Given the description of an element on the screen output the (x, y) to click on. 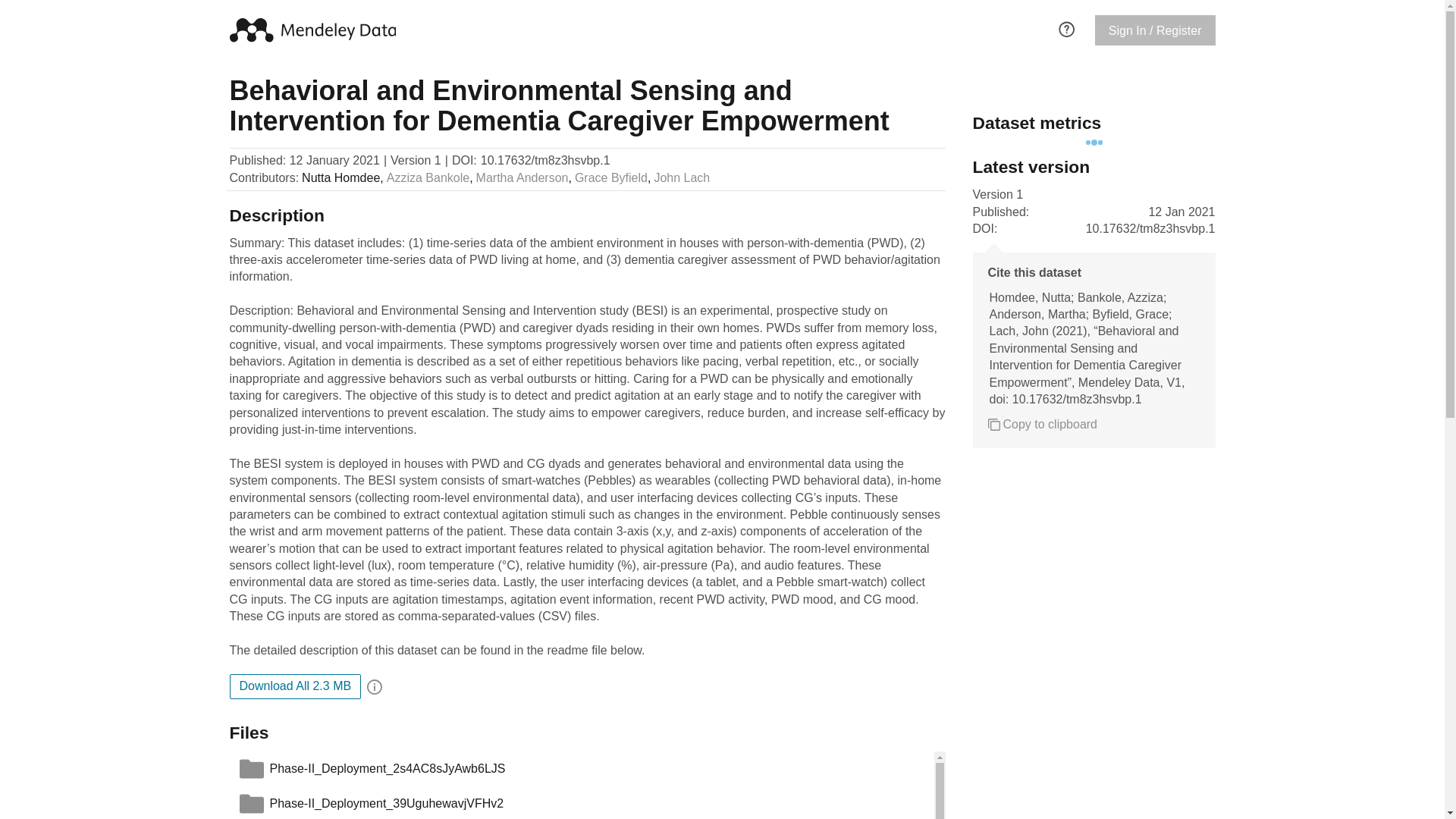
FAQ (1066, 27)
Martha Anderson (522, 177)
Copy to clipboard (1042, 424)
Azziza Bankole (427, 177)
Grace Byfield (611, 177)
Download All 2.3 MB (294, 686)
John Lach (681, 177)
